Given the description of an element on the screen output the (x, y) to click on. 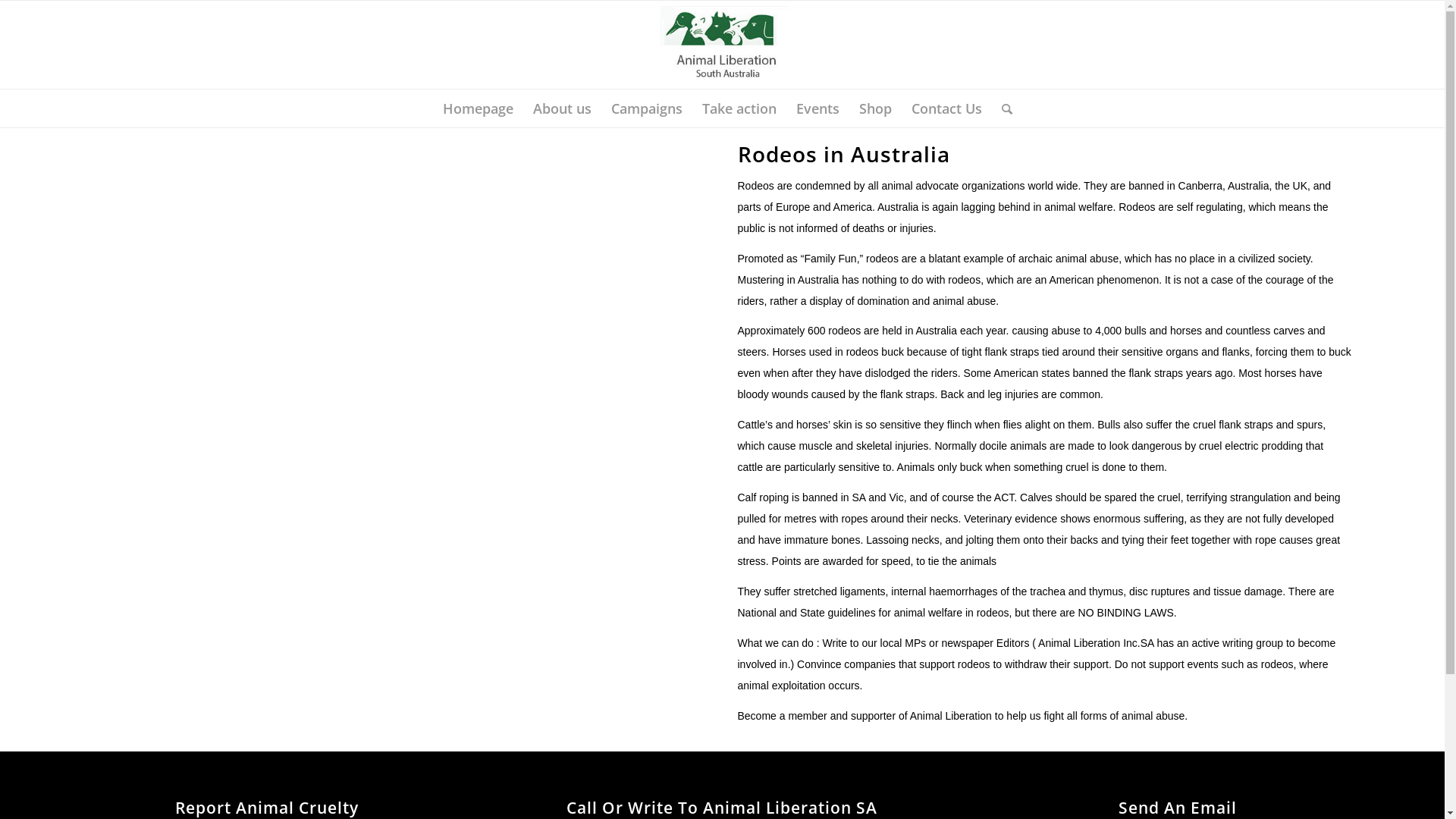
About us Element type: text (562, 108)
Homepage Element type: text (477, 108)
Events Element type: text (816, 108)
Shop Element type: text (875, 108)
Contact Us Element type: text (945, 108)
Take action Element type: text (738, 108)
Campaigns Element type: text (645, 108)
